Given the description of an element on the screen output the (x, y) to click on. 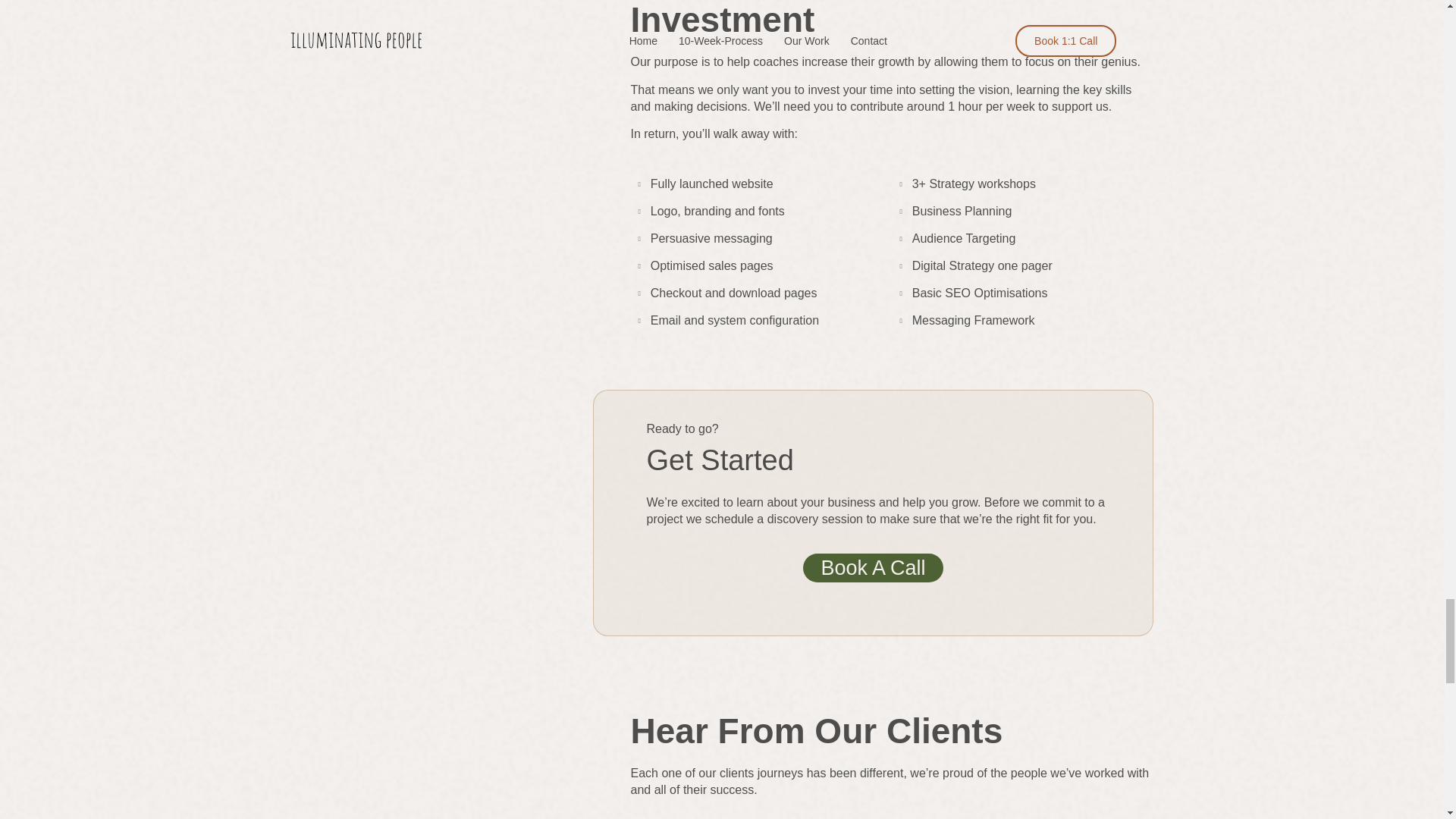
Book A Call (872, 567)
